Given the description of an element on the screen output the (x, y) to click on. 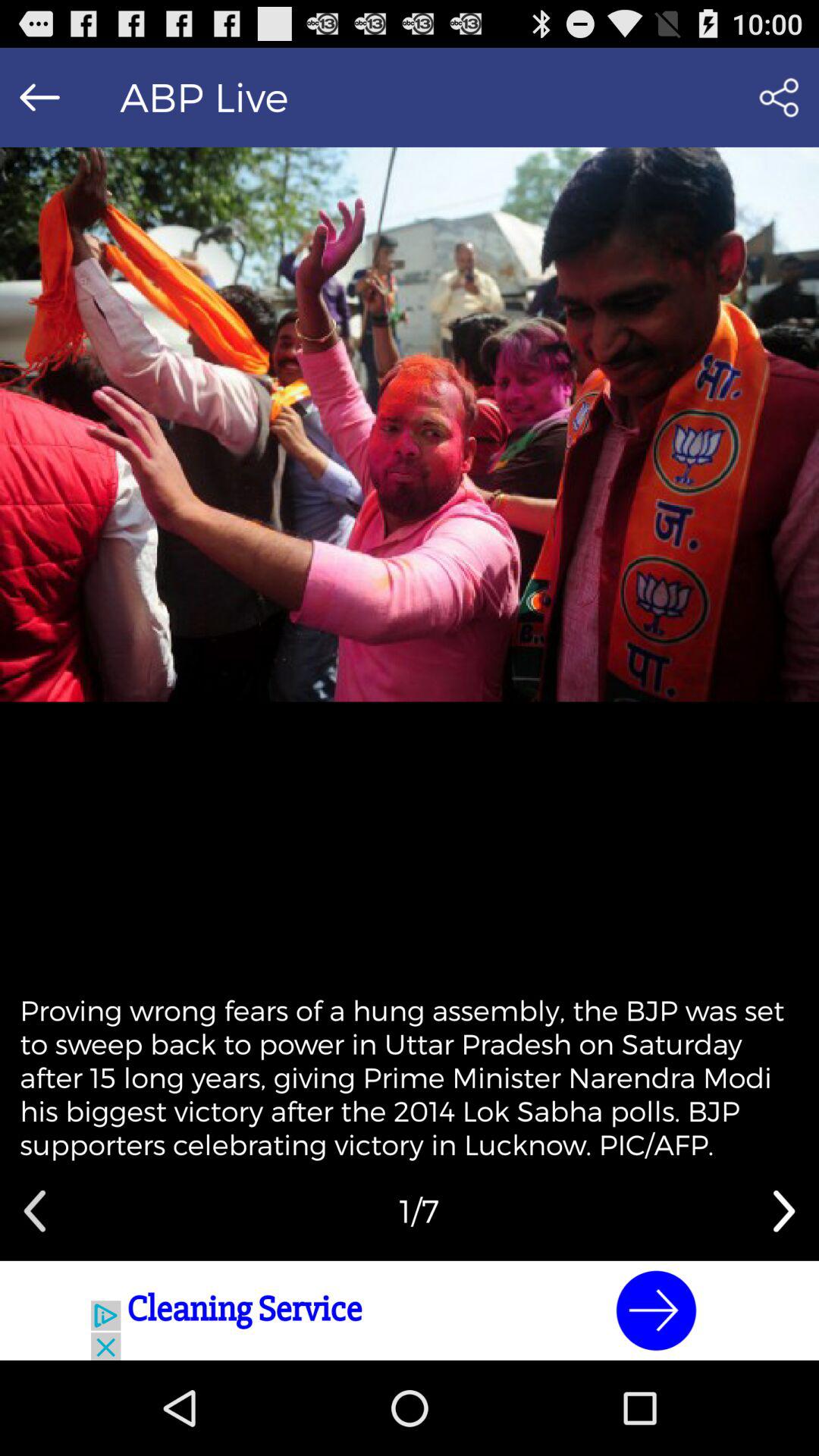
share button (778, 97)
